Given the description of an element on the screen output the (x, y) to click on. 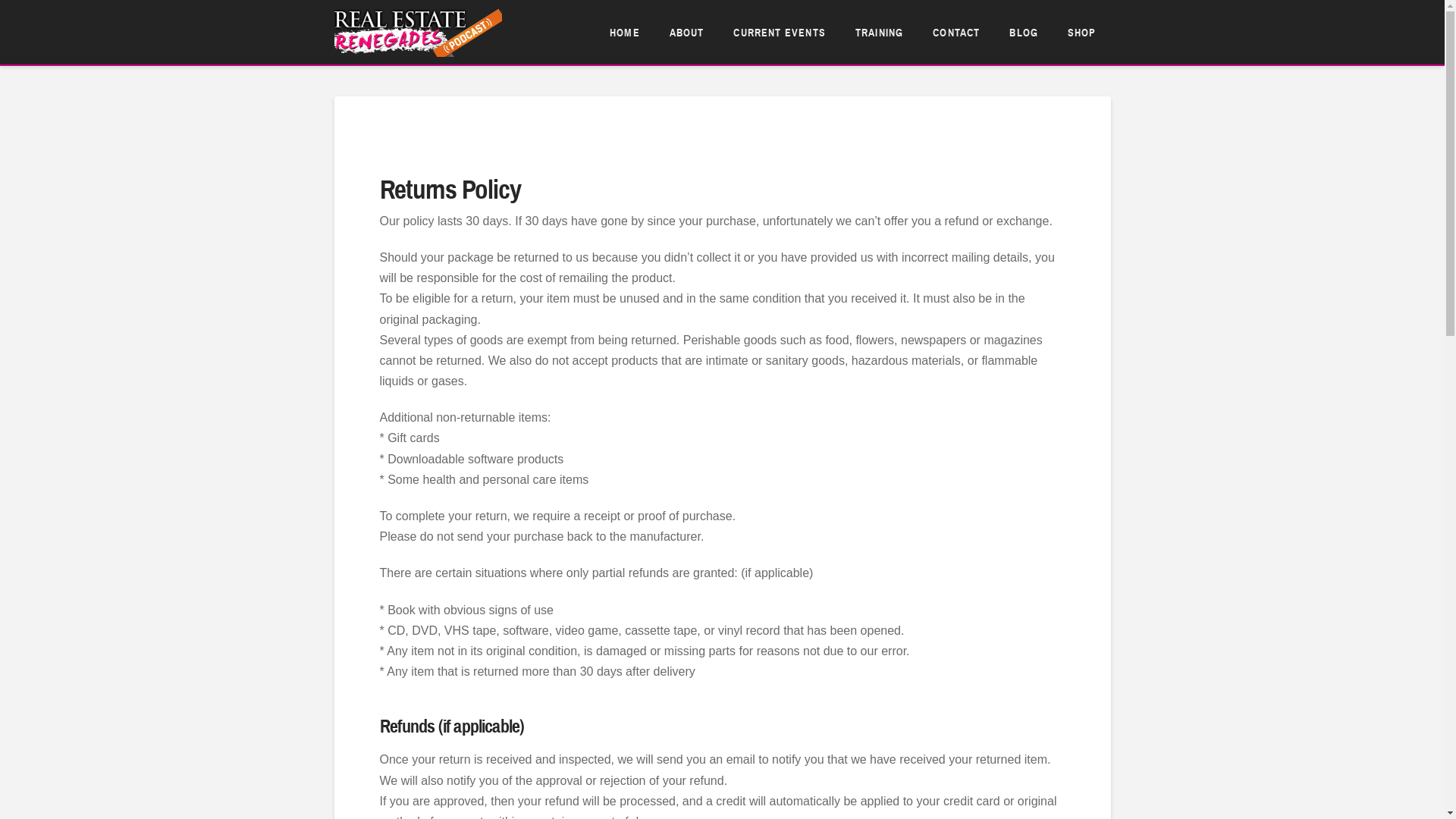
CURRENT EVENTS Element type: text (778, 32)
ABOUT Element type: text (686, 32)
BLOG Element type: text (1023, 32)
SHOP Element type: text (1081, 32)
TRAINING Element type: text (878, 32)
HOME Element type: text (624, 32)
CONTACT Element type: text (955, 32)
